Given the description of an element on the screen output the (x, y) to click on. 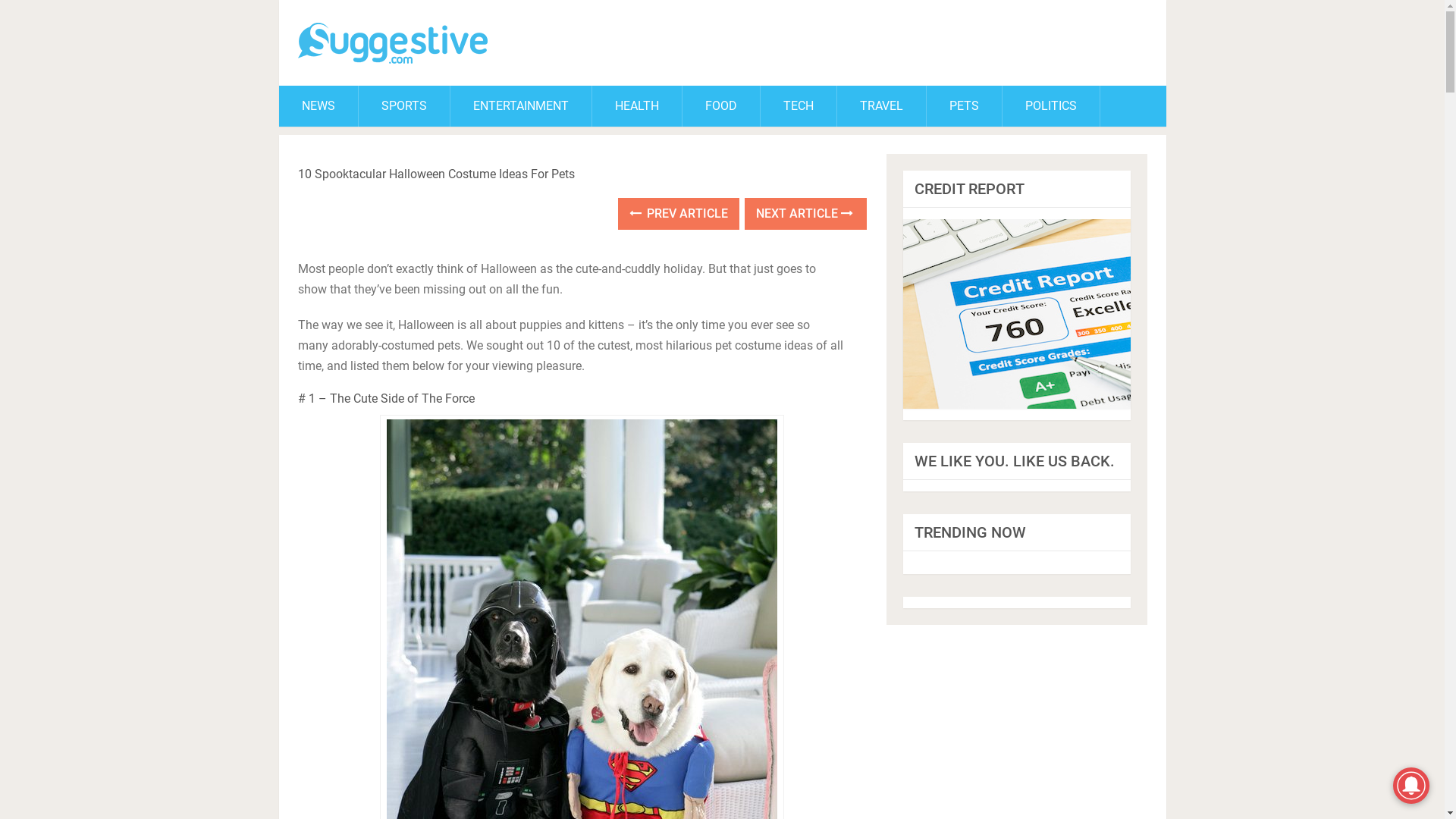
POLITICS Element type: text (1050, 105)
TRAVEL Element type: text (881, 105)
PREV ARTICLE Element type: text (678, 213)
SPORTS Element type: text (402, 105)
FOOD Element type: text (720, 105)
HEALTH Element type: text (635, 105)
PETS Element type: text (963, 105)
NEXT ARTICLE Element type: text (805, 213)
NEWS Element type: text (318, 105)
ENTERTAINMENT Element type: text (520, 105)
TECH Element type: text (797, 105)
